Given the description of an element on the screen output the (x, y) to click on. 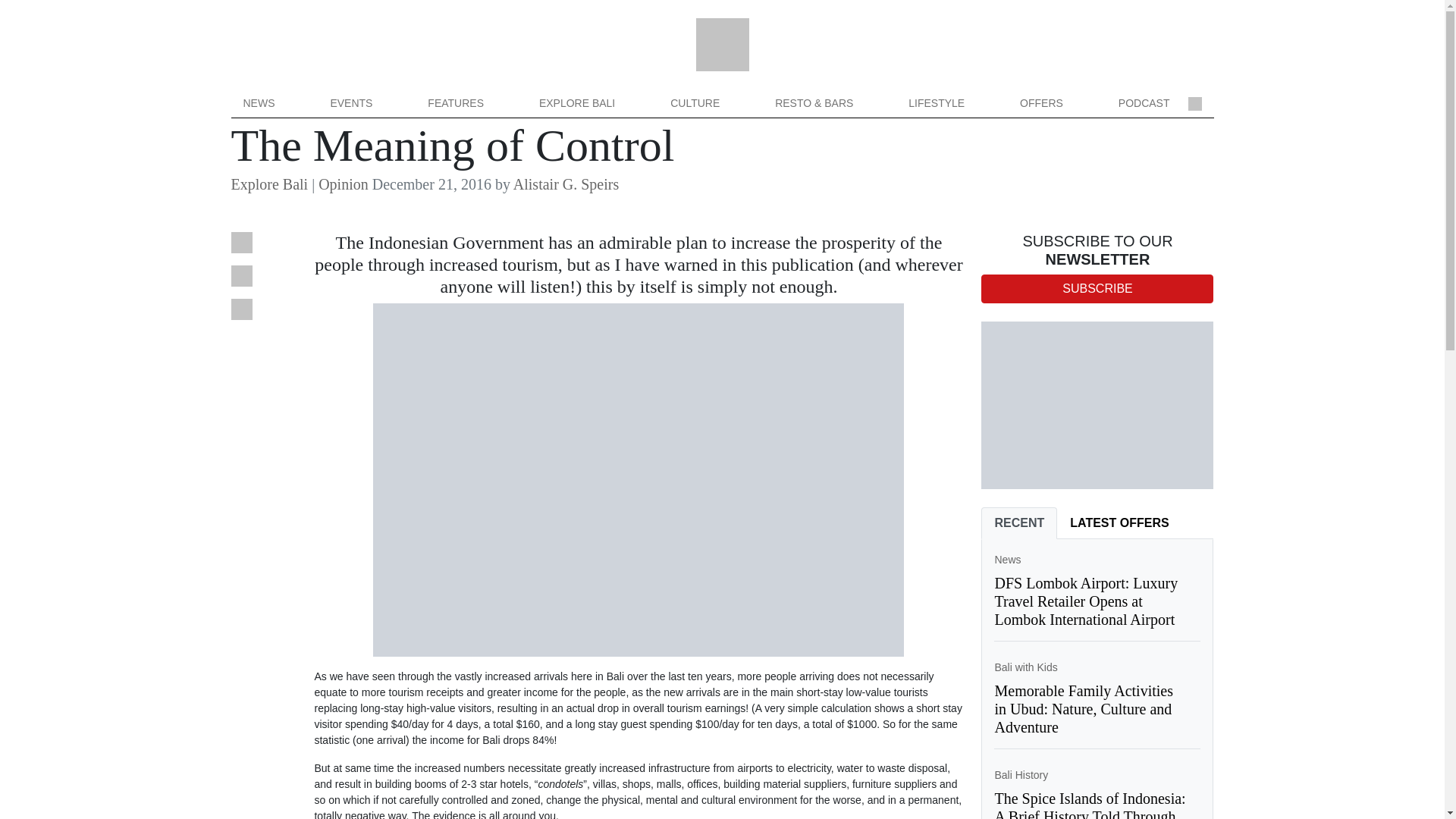
NEWS (258, 103)
OFFERS (1041, 103)
LATEST OFFERS (1118, 522)
FEATURES (455, 103)
CULTURE (695, 103)
Bali with Kids (1025, 666)
PODCAST (1144, 103)
